Given the description of an element on the screen output the (x, y) to click on. 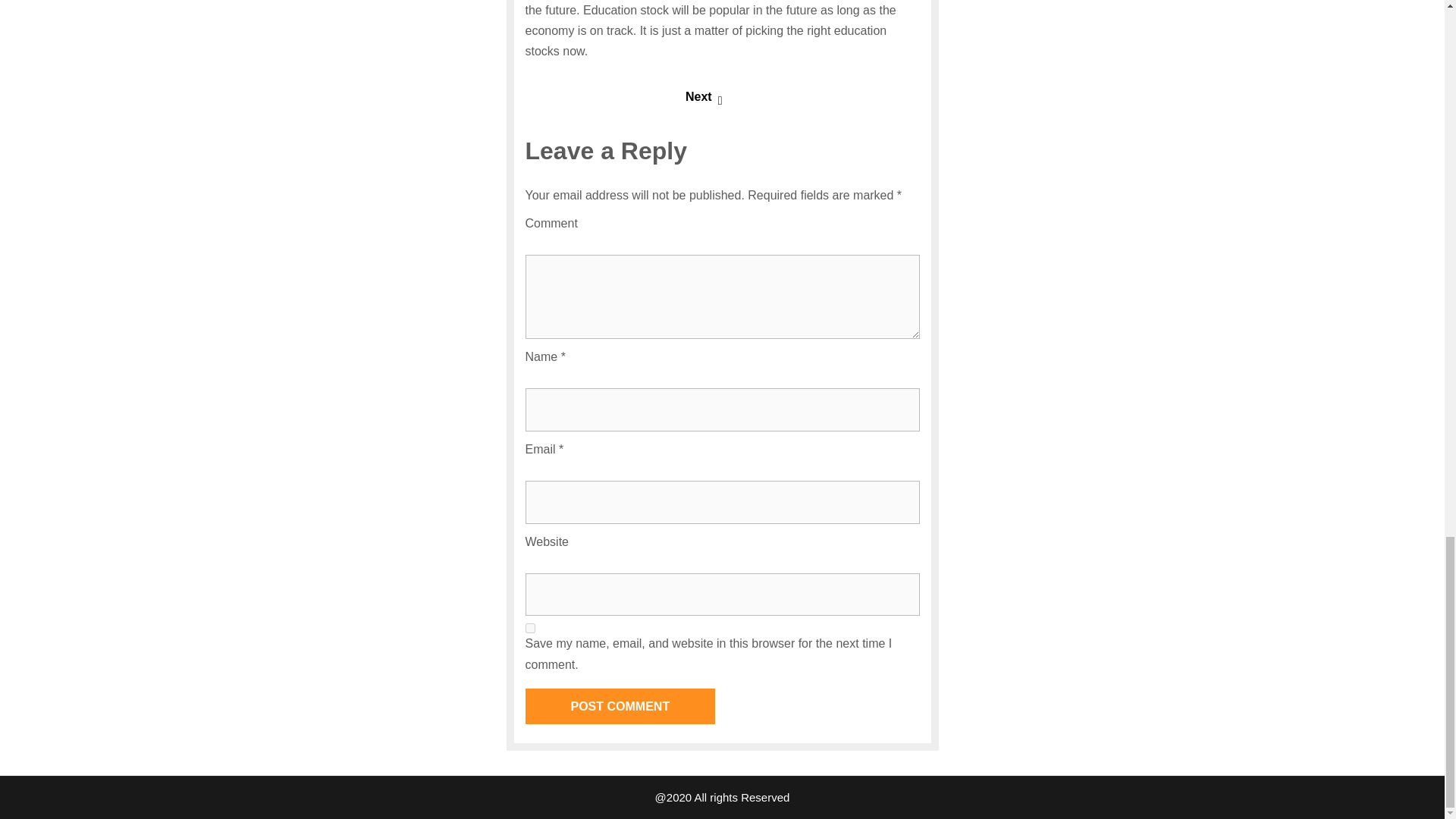
Post Comment (619, 705)
Post Comment (619, 705)
Next (703, 96)
yes (529, 628)
